Given the description of an element on the screen output the (x, y) to click on. 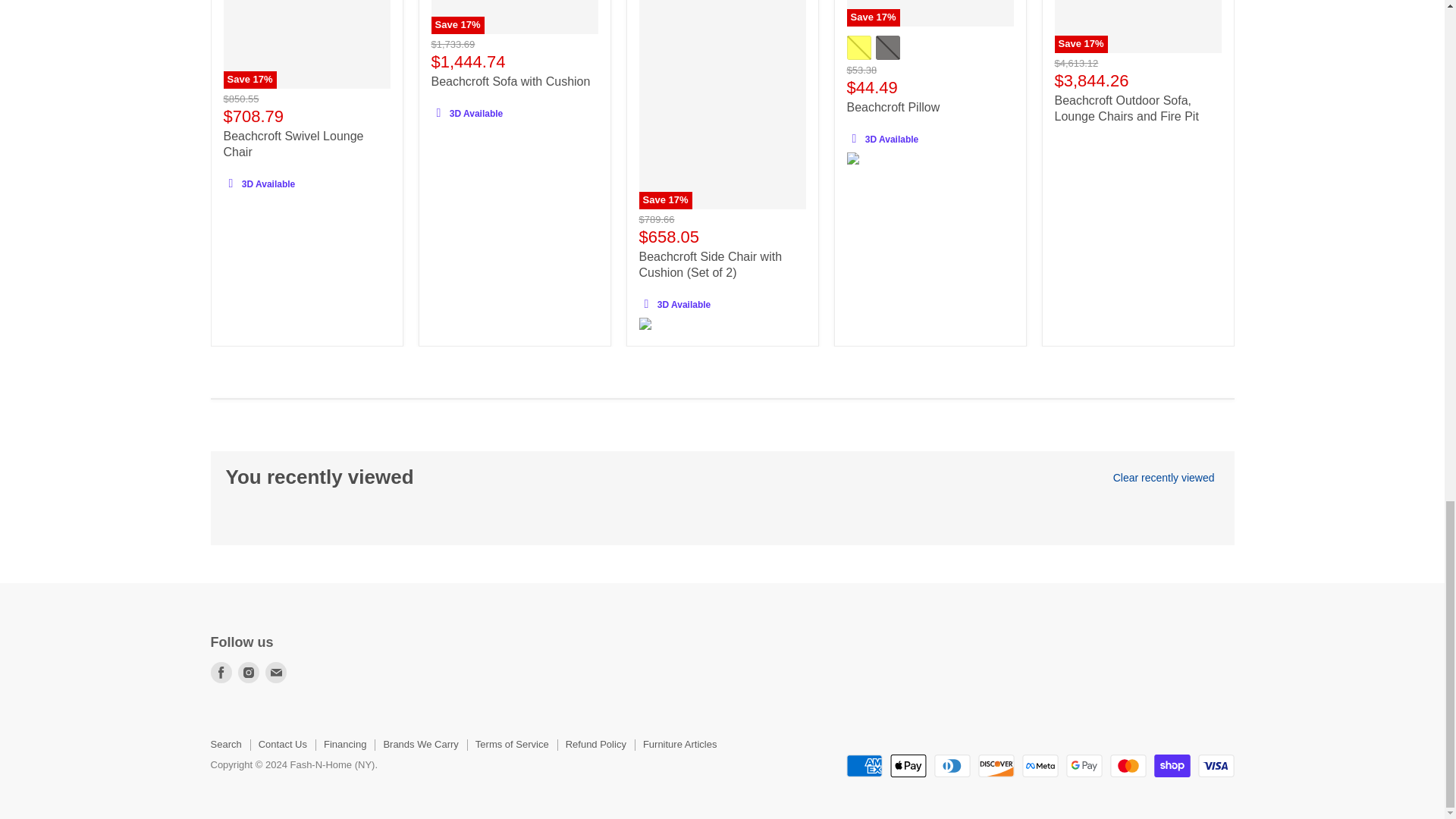
3D Viewing Available (230, 183)
E-mail (275, 672)
3D Viewing Available (437, 112)
3D Viewing Available (646, 303)
3D Viewing Available (853, 138)
Facebook (221, 672)
Instagram (248, 672)
